Given the description of an element on the screen output the (x, y) to click on. 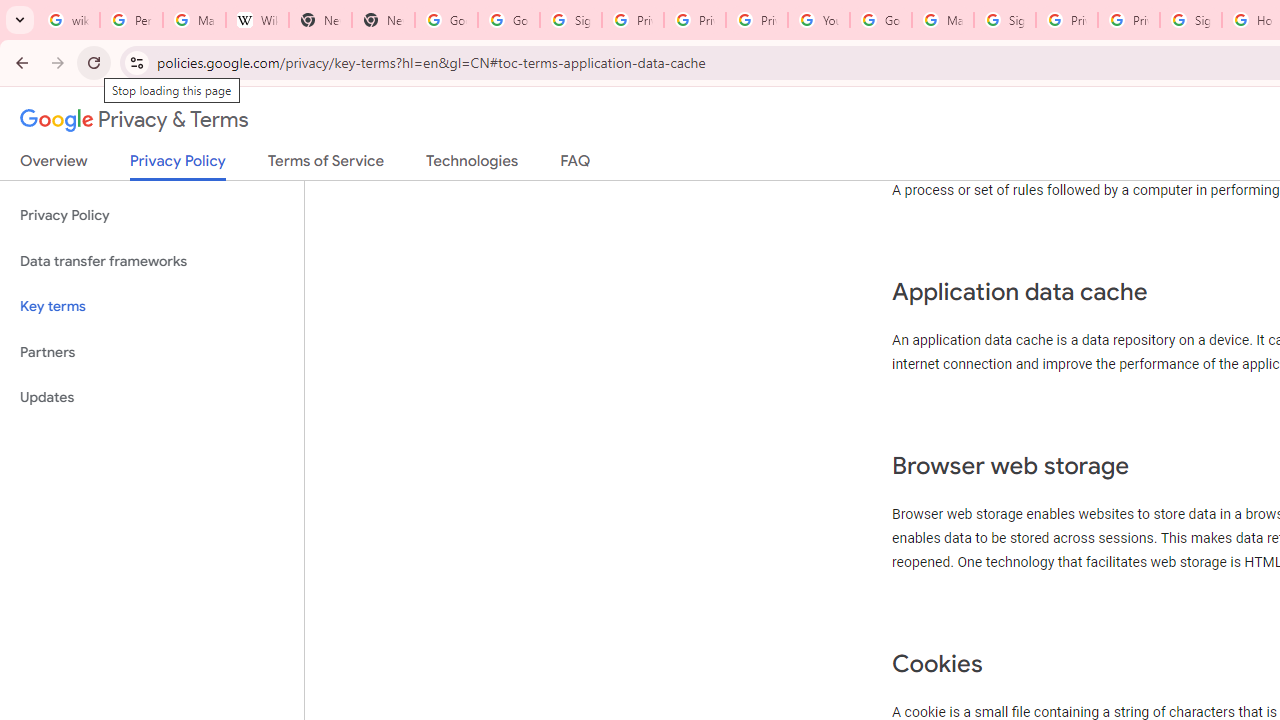
Google Account Help (880, 20)
Google Drive: Sign-in (508, 20)
New Tab (320, 20)
Sign in - Google Accounts (1004, 20)
Manage your Location History - Google Search Help (194, 20)
